Given the description of an element on the screen output the (x, y) to click on. 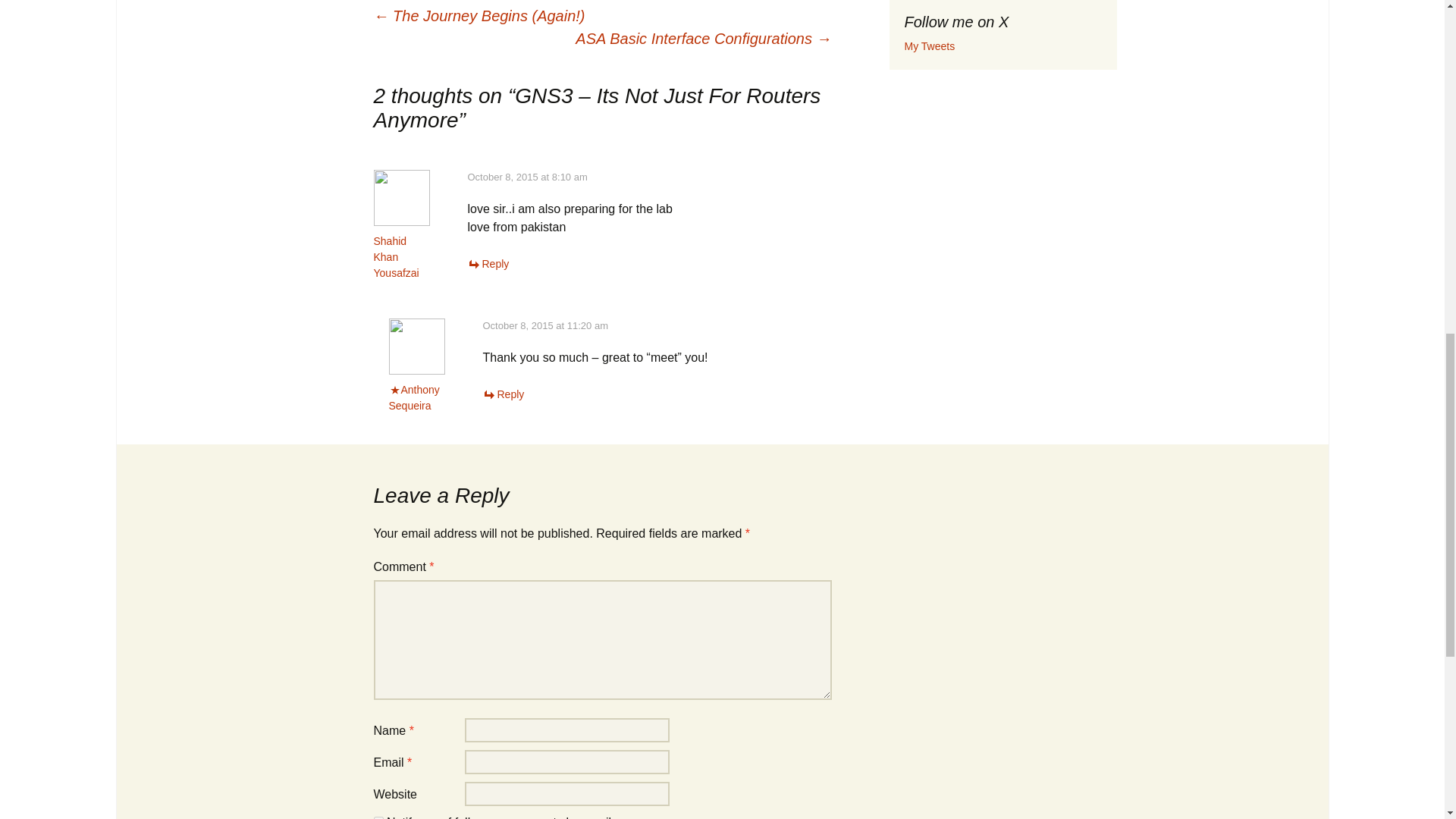
Reply (502, 394)
October 8, 2015 at 8:10 am (526, 176)
October 8, 2015 at 11:20 am (544, 325)
Reply (487, 263)
